Given the description of an element on the screen output the (x, y) to click on. 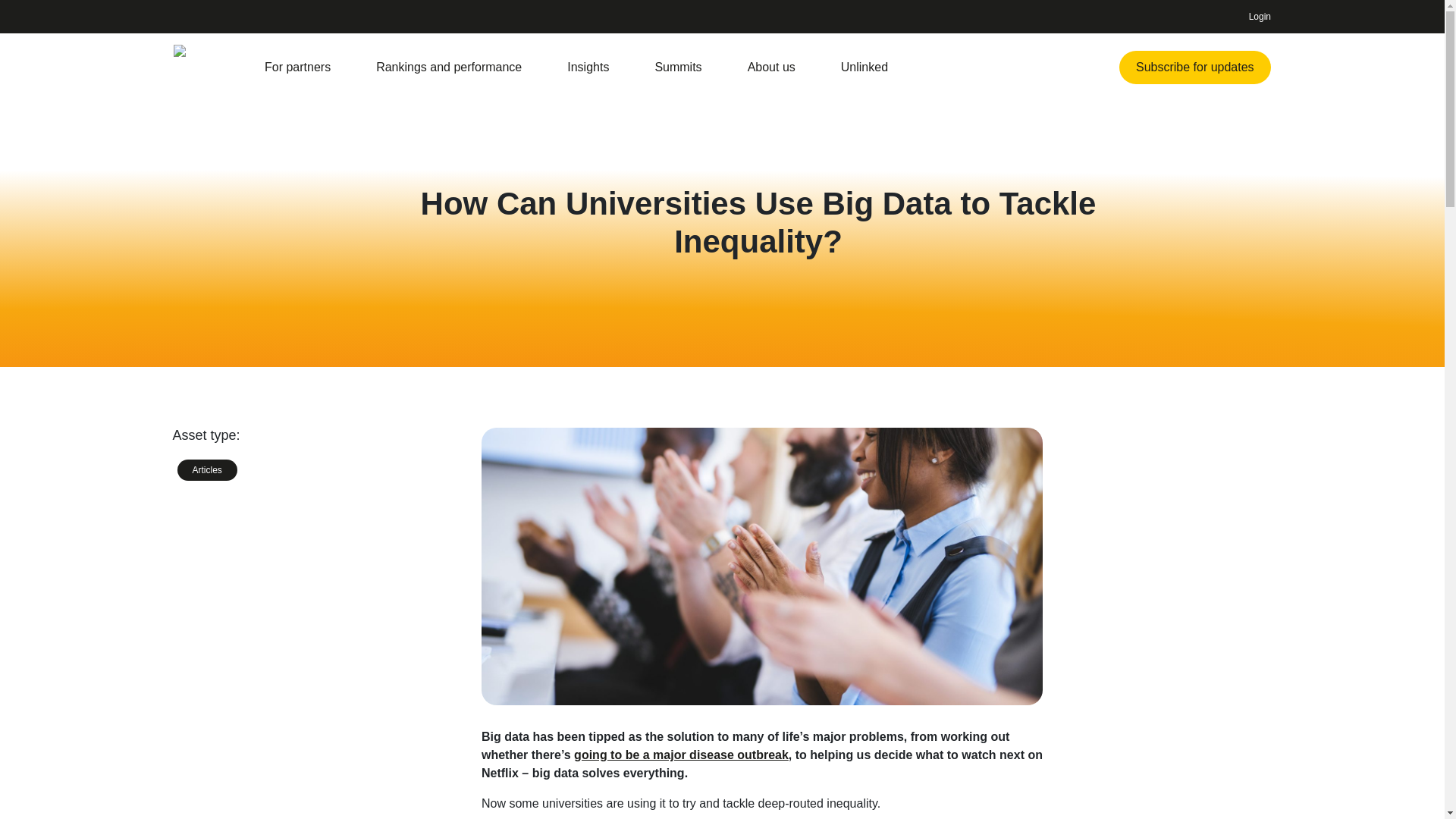
For partners (297, 67)
Rankings and performance (448, 67)
For partners (297, 67)
Insights (587, 67)
Login (1256, 17)
Summits (677, 67)
